Given the description of an element on the screen output the (x, y) to click on. 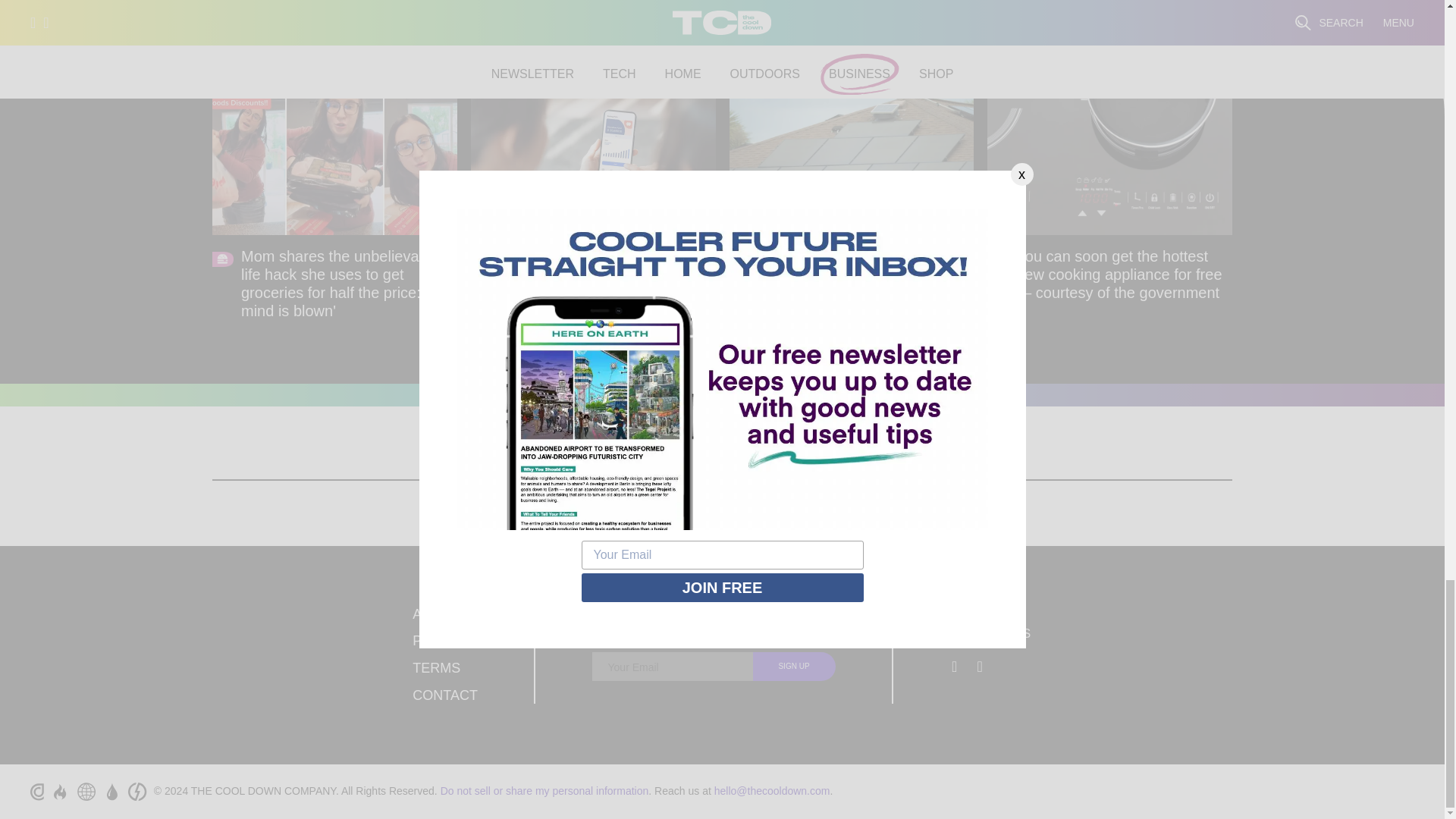
Sign Up (793, 665)
